Given the description of an element on the screen output the (x, y) to click on. 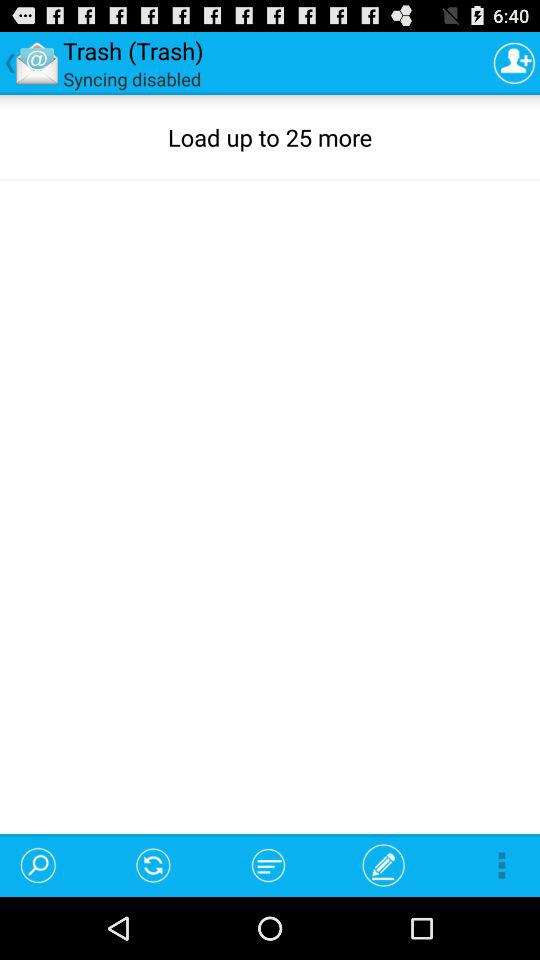
launch the icon at the bottom (268, 864)
